Given the description of an element on the screen output the (x, y) to click on. 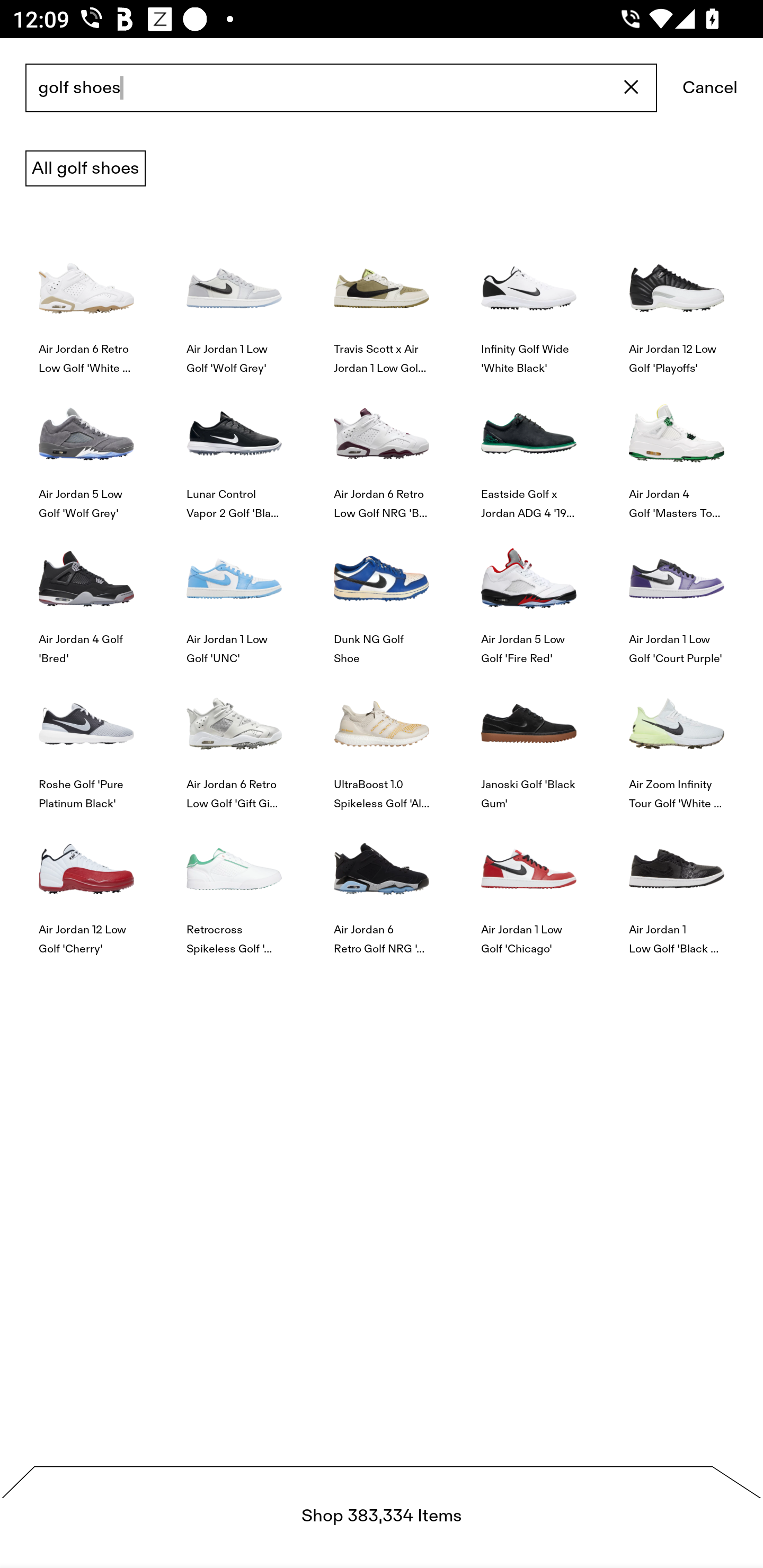
golf shoes (340, 88)
Cancel (709, 88)
Clear text (631, 87)
All golf shoes (85, 168)
Air Jordan 6 Retro Low Golf 'White Khaki' (86, 303)
Air Jordan 1 Low Golf 'Wolf Grey' (233, 303)
Infinity Golf Wide 'White Black' (528, 303)
Air Jordan 12 Low Golf 'Playoffs' (676, 303)
Air Jordan 5 Low Golf 'Wolf Grey' (86, 448)
Lunar Control Vapor 2 Golf 'Black White' (233, 448)
Air Jordan 6 Retro Low Golf NRG 'Bordeaux' (381, 448)
Eastside Golf x Jordan ADG 4 '1961' (528, 448)
Air Jordan 4 Golf 'Masters Tournament' (676, 448)
Air Jordan 4 Golf 'Bred' (86, 593)
Air Jordan 1 Low Golf 'UNC' (233, 593)
Dunk NG Golf Shoe (381, 593)
Air Jordan 5 Low Golf 'Fire Red' (528, 593)
Air Jordan 1 Low Golf 'Court Purple' (676, 593)
Roshe Golf 'Pure Platinum Black' (86, 739)
Air Jordan 6 Retro Low Golf 'Gift Giving Pack' (233, 739)
Janoski Golf 'Black Gum' (528, 739)
Air Zoom Infinity Tour Golf 'White Barely Volt' (676, 739)
Air Jordan 12 Low Golf 'Cherry' (86, 884)
Retrocross Spikeless Golf 'White Court Green' (233, 884)
Air Jordan 6 Retro Golf NRG 'Chrome' (381, 884)
Air Jordan 1 Low Golf 'Chicago' (528, 884)
Air Jordan 1 Low Golf 'Black Crocodile' (676, 884)
Shop 383,334 Items (381, 1517)
